Given the description of an element on the screen output the (x, y) to click on. 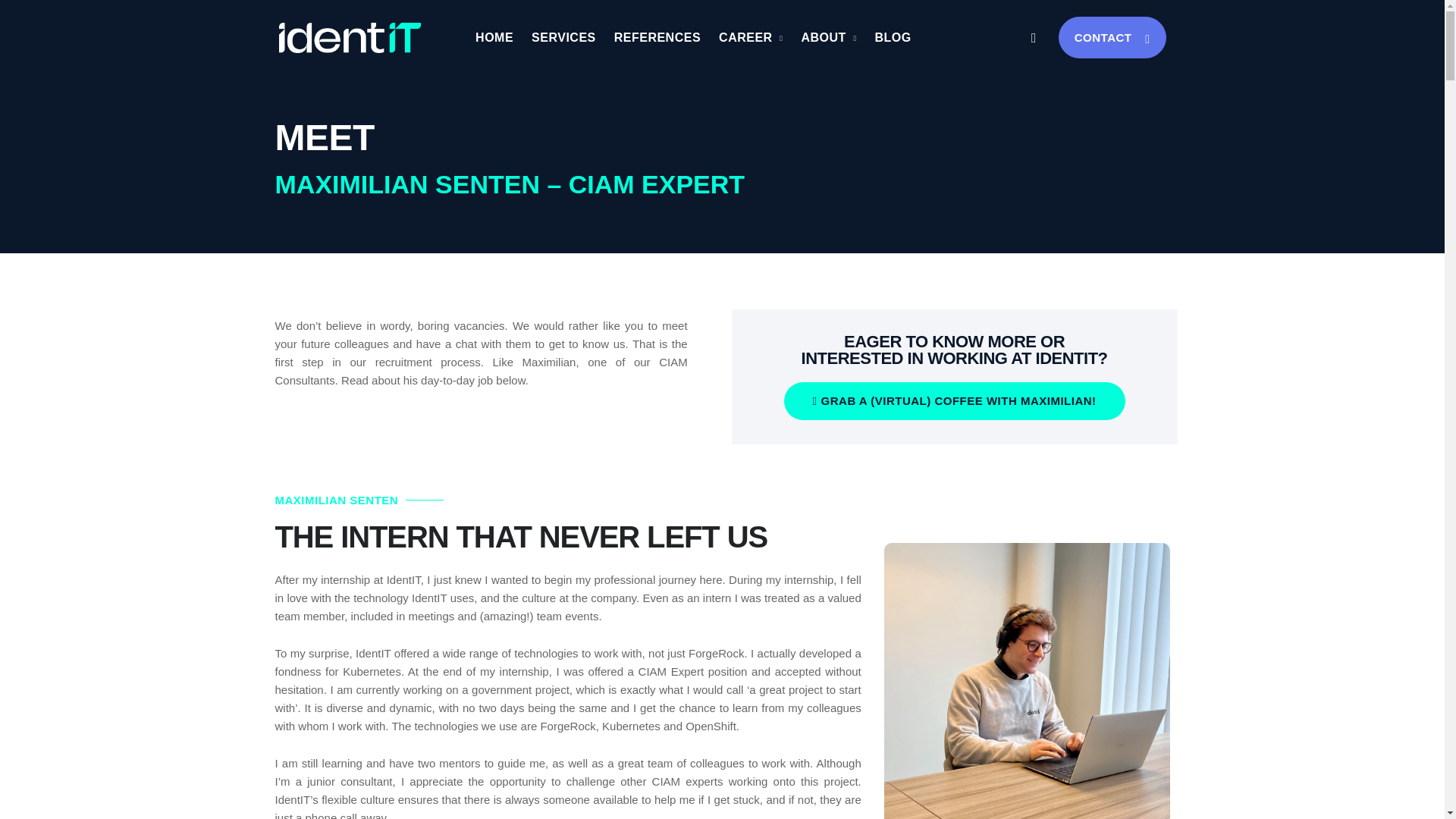
REFERENCES (657, 38)
IdentIT (350, 37)
CONTACT (1112, 37)
